Given the description of an element on the screen output the (x, y) to click on. 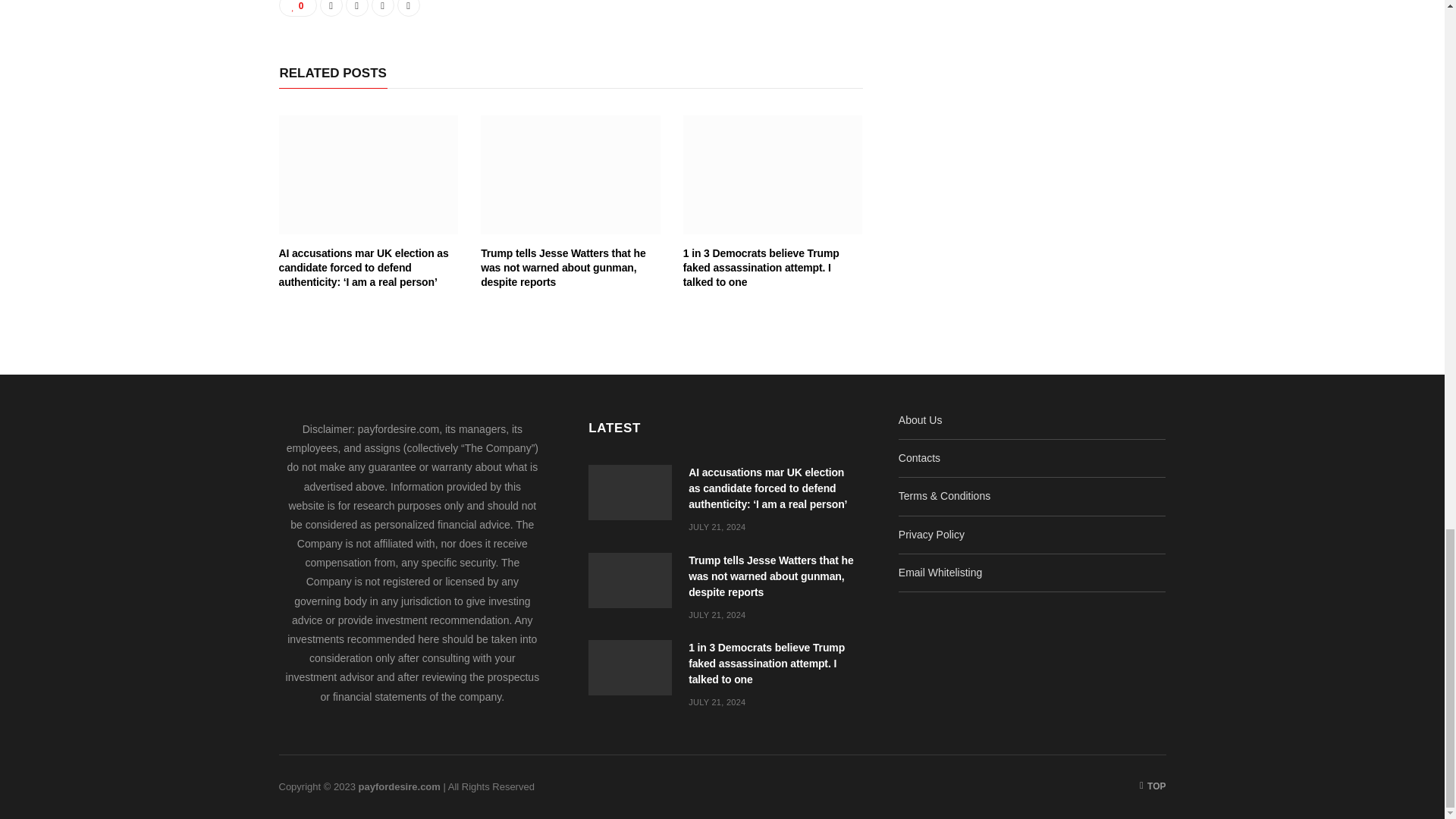
0 (298, 8)
